Given the description of an element on the screen output the (x, y) to click on. 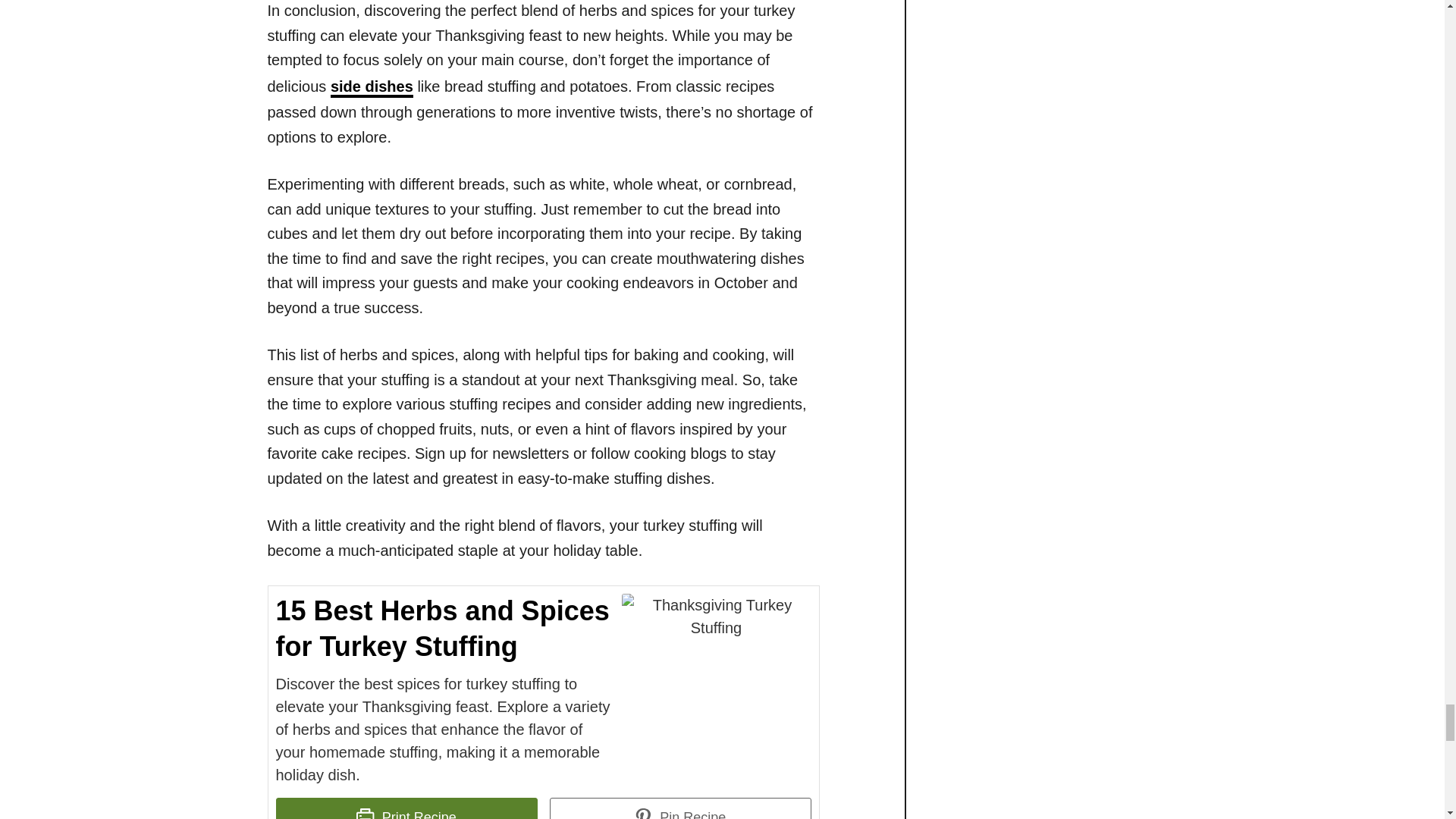
Pin Recipe (679, 808)
side dishes (371, 87)
side dishes (371, 87)
Print Recipe (406, 808)
